Given the description of an element on the screen output the (x, y) to click on. 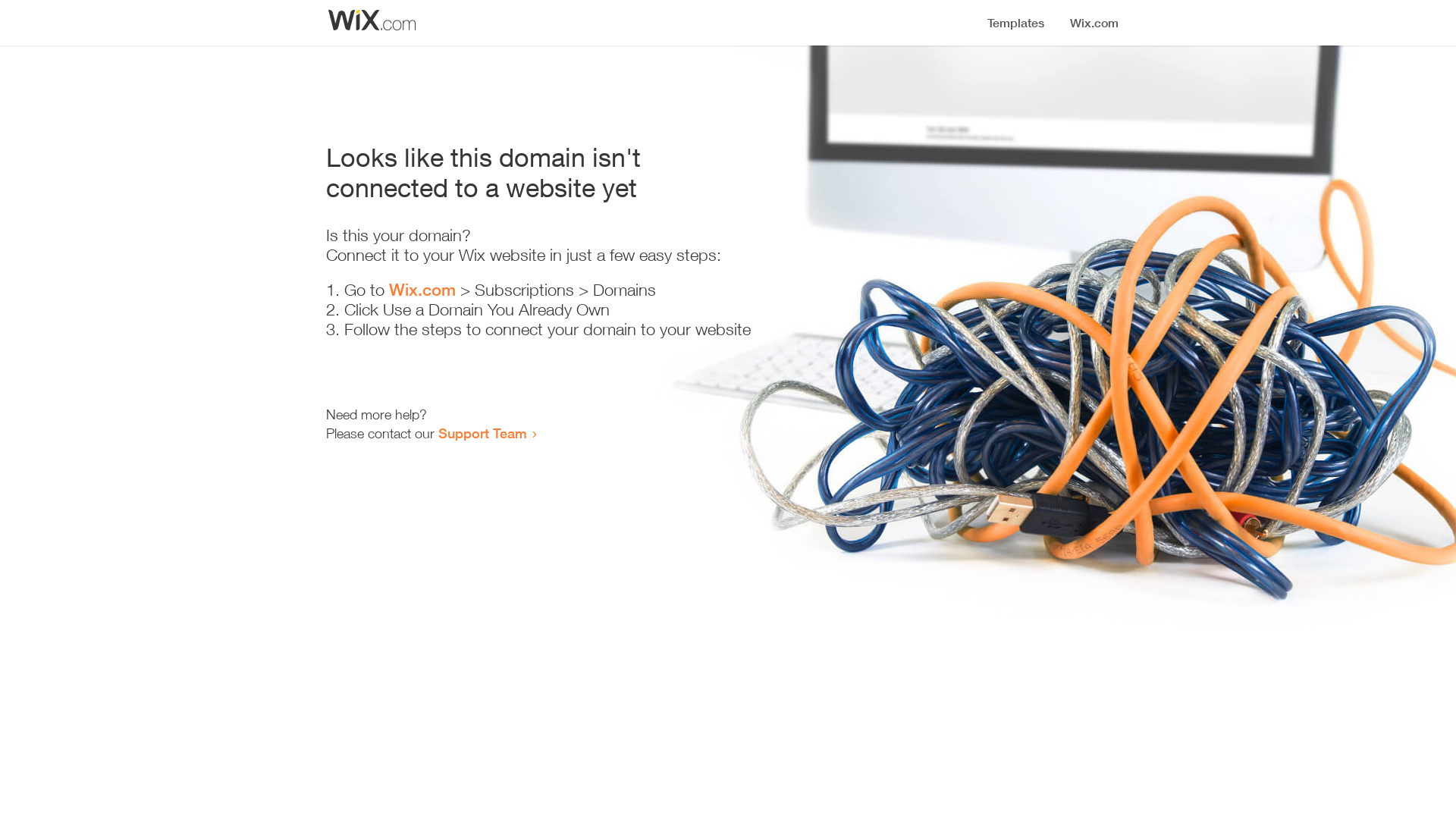
Wix.com Element type: text (422, 289)
Support Team Element type: text (482, 432)
